Given the description of an element on the screen output the (x, y) to click on. 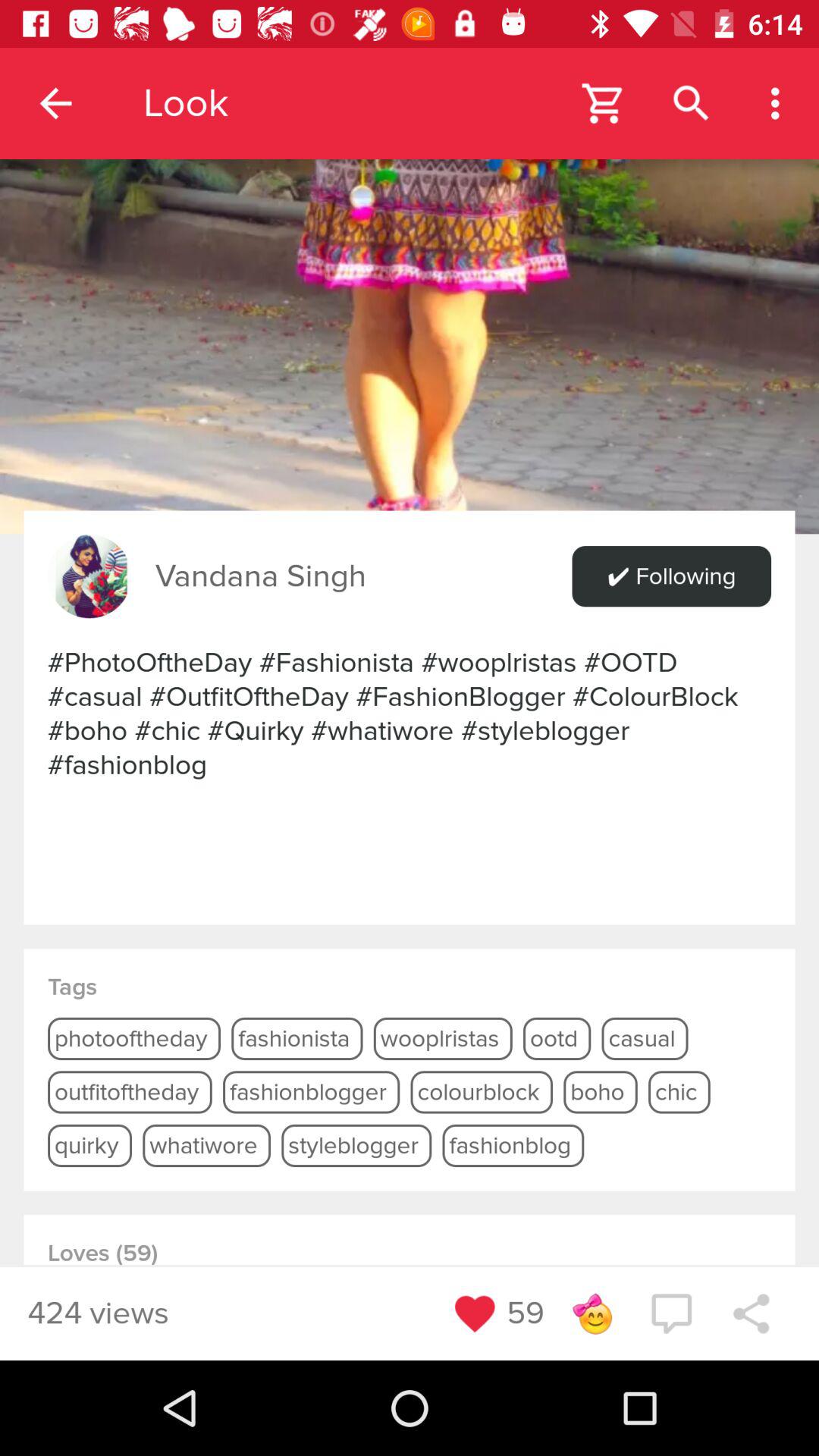
launch the item next to the 424 views (474, 1313)
